Given the description of an element on the screen output the (x, y) to click on. 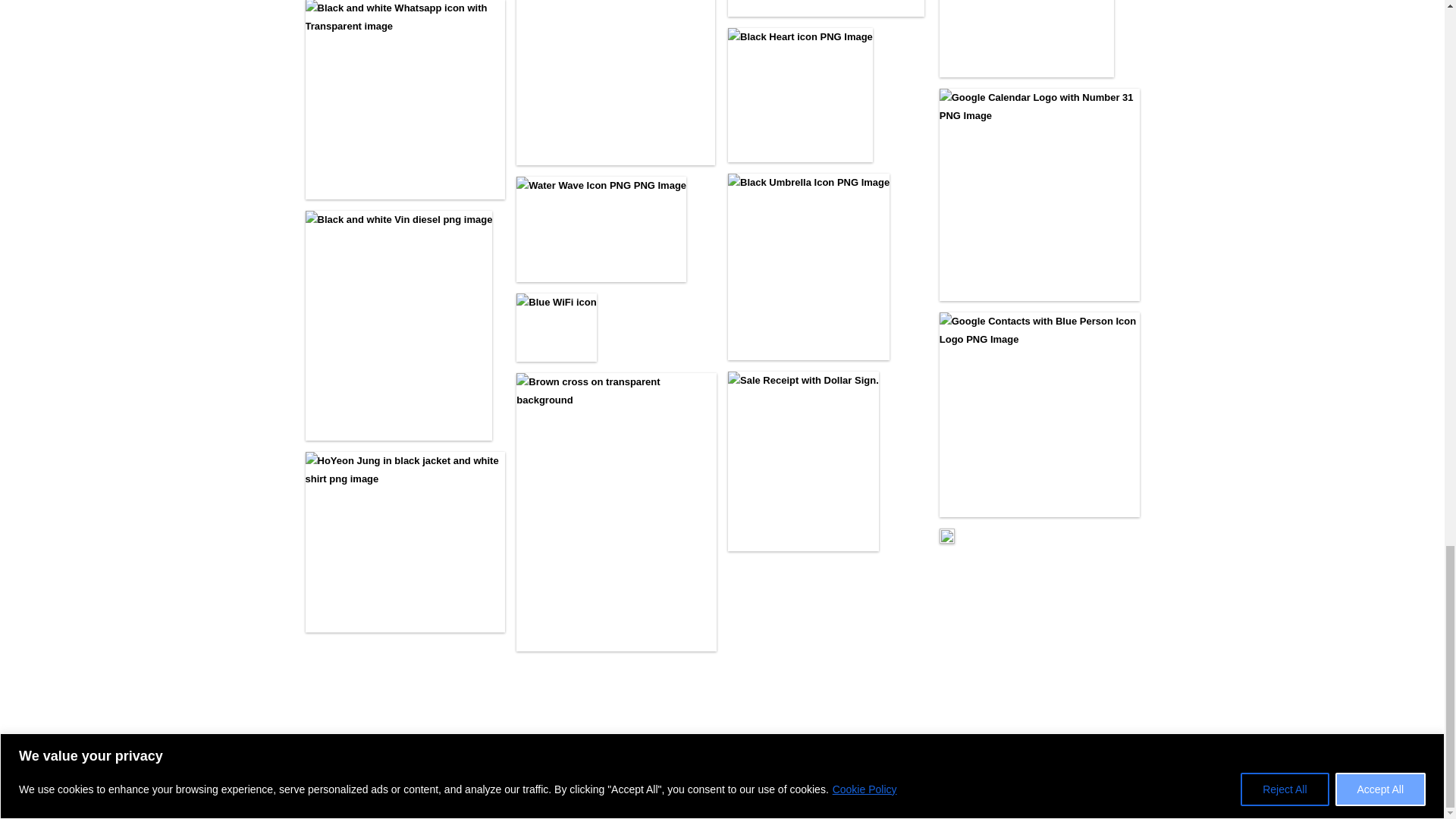
HoYeon Jung in black jacket png image (404, 542)
WiFi Icon PNG Image (555, 327)
Sun Vector PNG Image (615, 82)
Whatsapp icon png image (404, 99)
Water Wave Icon PNG Image (600, 228)
